Given the description of an element on the screen output the (x, y) to click on. 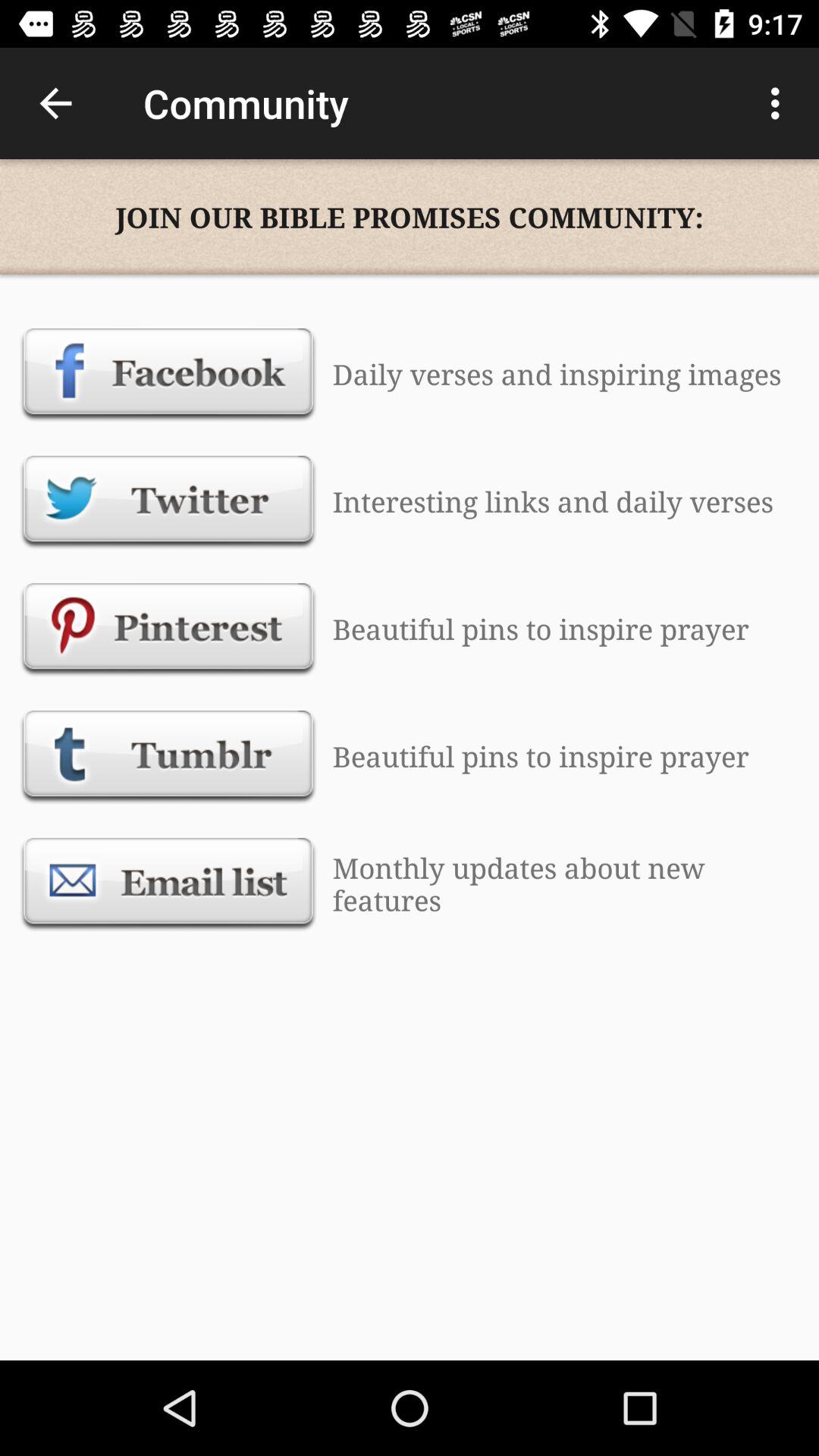
open the icon next to the community icon (55, 103)
